Given the description of an element on the screen output the (x, y) to click on. 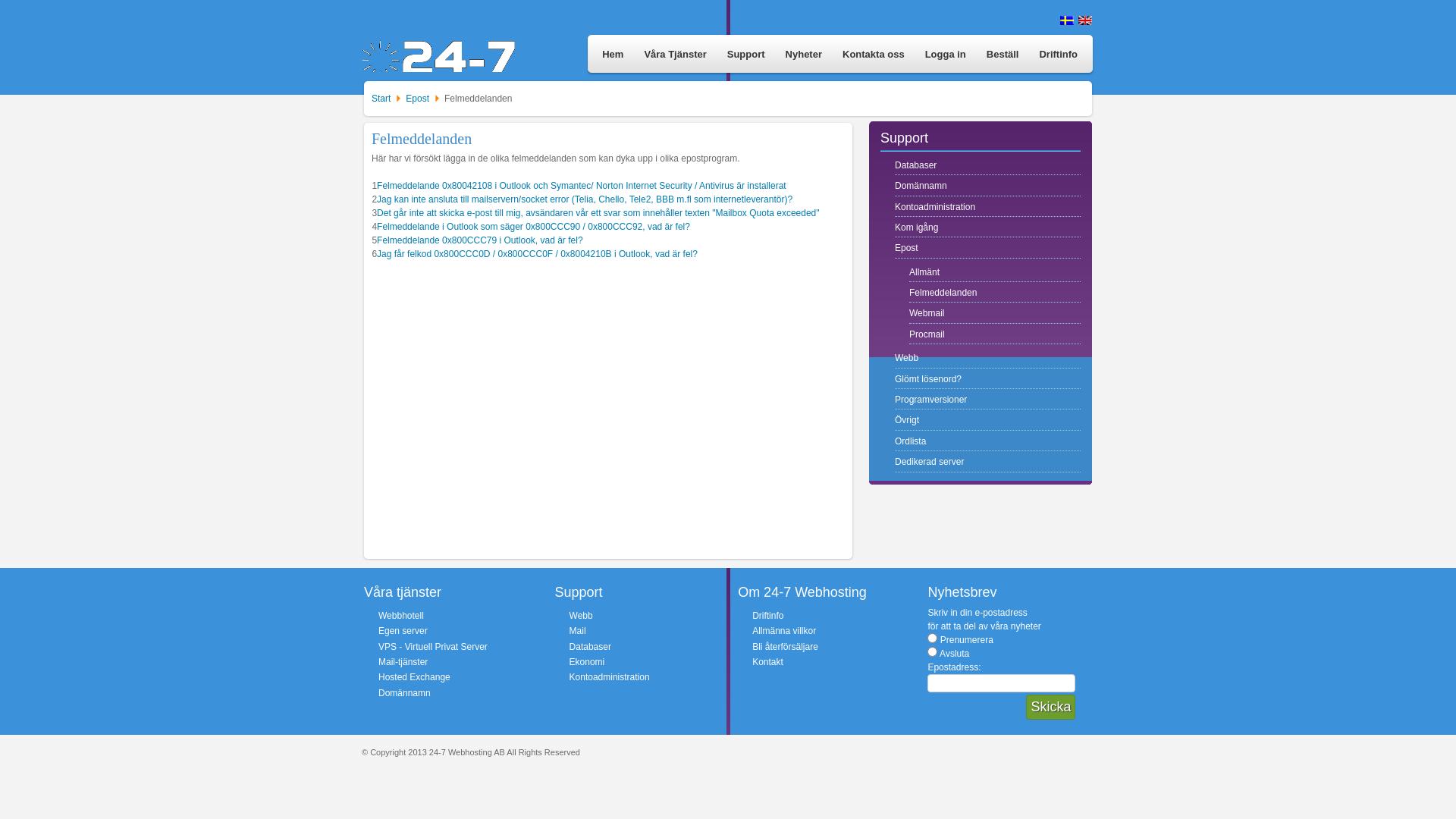
Programversioner Element type: text (987, 399)
Dedikerad server Element type: text (987, 461)
Kontakt Element type: text (767, 661)
Driftinfo Element type: text (767, 615)
English (United Kingdom) Element type: hover (1084, 20)
Kontoadministration Element type: text (987, 206)
Kontakta oss Element type: text (871, 53)
Hosted Exchange Element type: text (414, 676)
Felmeddelanden Element type: text (994, 292)
Databaser Element type: text (987, 165)
Webmail Element type: text (994, 313)
Databaser Element type: text (590, 646)
Ekonomi Element type: text (587, 661)
Logga in Element type: text (944, 53)
Hem Element type: text (611, 53)
Start Element type: text (382, 98)
Webb Element type: text (987, 357)
Skicka Element type: text (1050, 706)
Kontoadministration Element type: text (609, 676)
Webbhotell Element type: text (400, 615)
Epost Element type: text (987, 247)
Egen server Element type: text (402, 630)
Procmail Element type: text (994, 334)
Epost Element type: text (419, 98)
Support Element type: text (744, 53)
Webb Element type: text (581, 615)
Mail Element type: text (577, 630)
Ordlista Element type: text (987, 441)
Driftinfo Element type: text (1056, 53)
Nyheter Element type: text (802, 53)
VPS - Virtuell Privat Server Element type: text (432, 646)
Svenska (Sverige) Element type: hover (1066, 20)
